Given the description of an element on the screen output the (x, y) to click on. 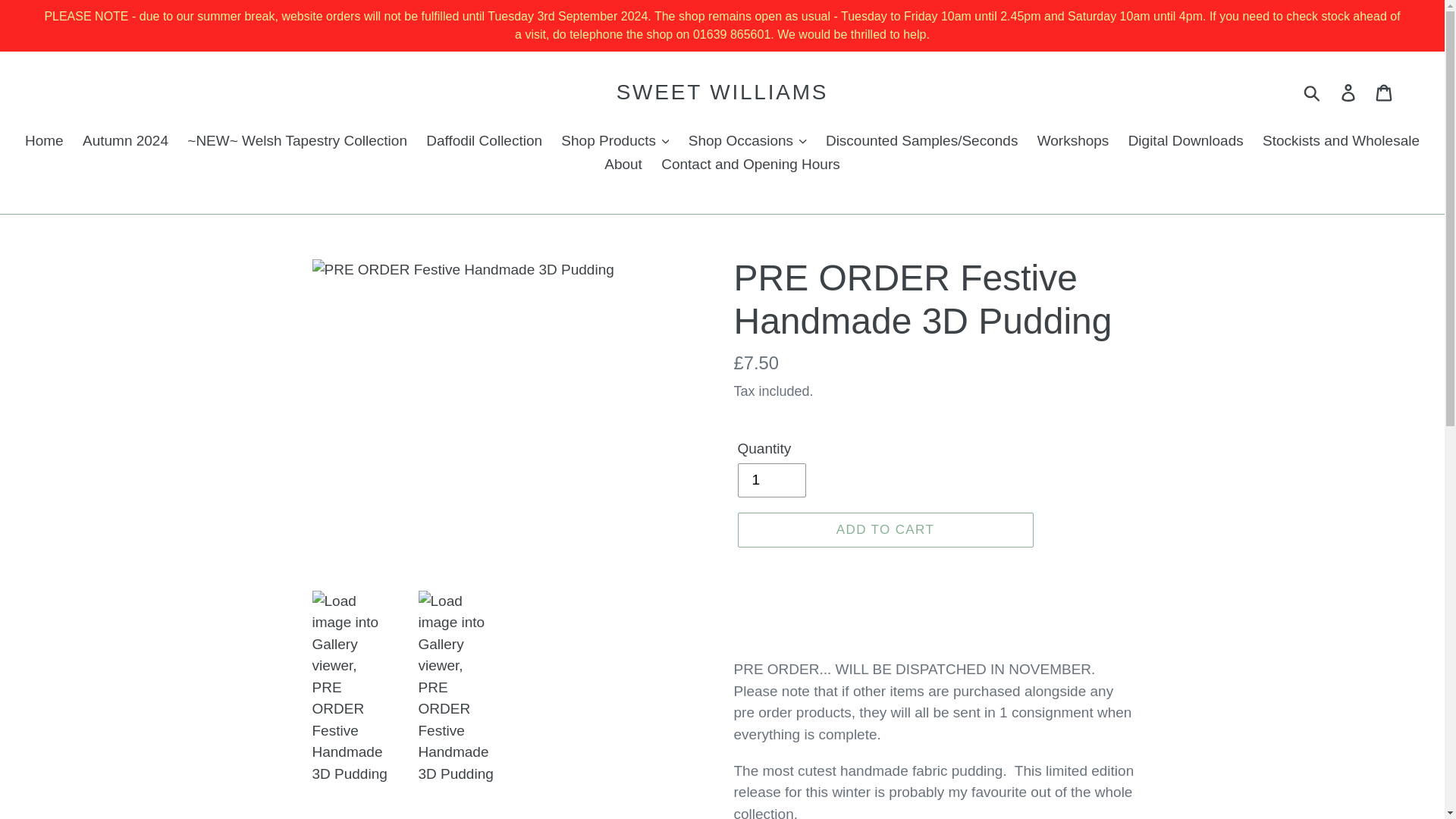
Cart (1385, 92)
1 (770, 480)
Submit (1313, 92)
Log in (1349, 92)
SWEET WILLIAMS (721, 92)
